Given the description of an element on the screen output the (x, y) to click on. 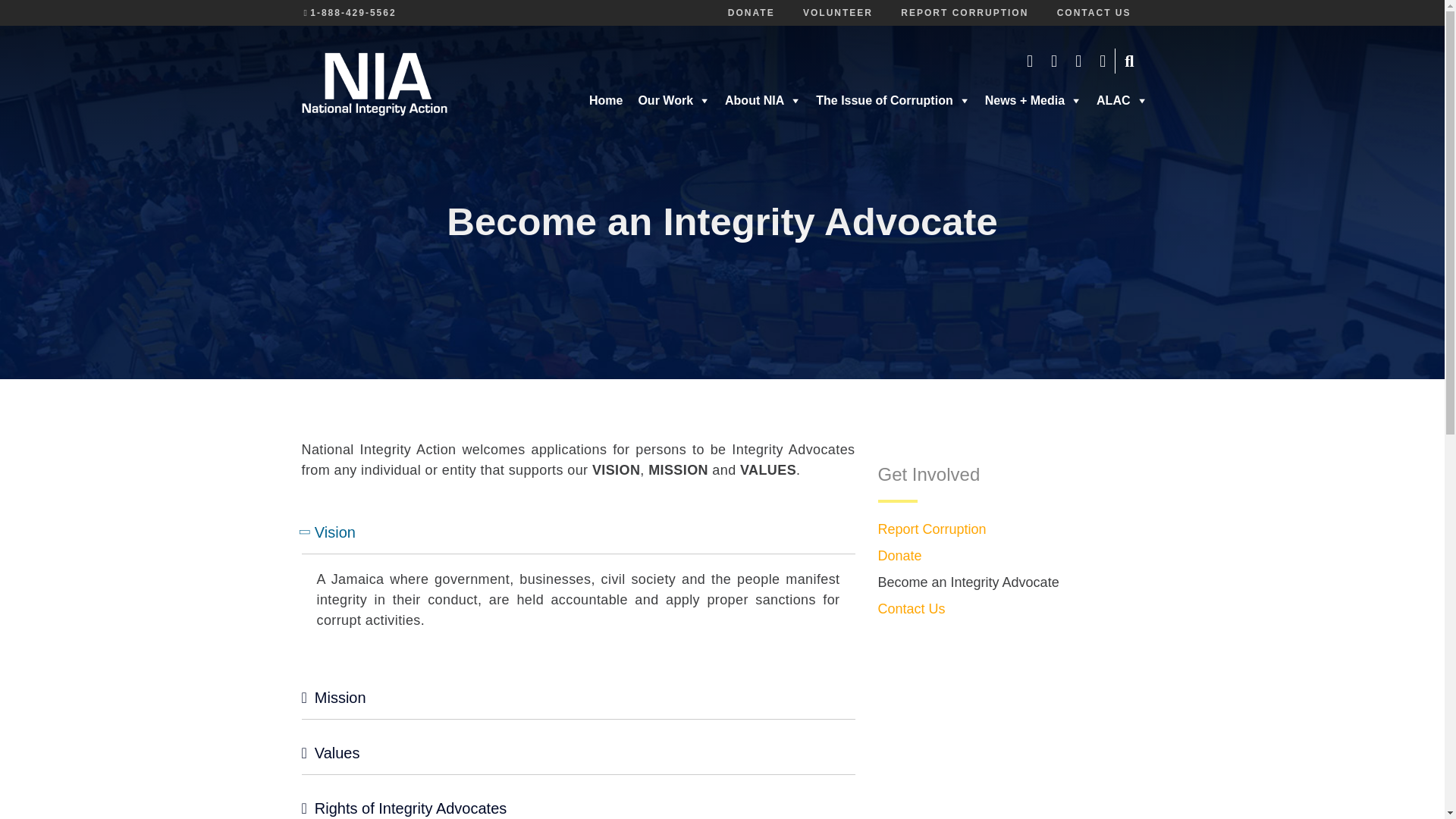
DONATE (751, 12)
VOLUNTEER (837, 12)
Report Corruption (964, 12)
REPORT CORRUPTION (964, 12)
Contact Us (1093, 12)
Donate (751, 12)
Volunteer (837, 12)
CONTACT US (1093, 12)
1-888-429-5562 (353, 12)
